Given the description of an element on the screen output the (x, y) to click on. 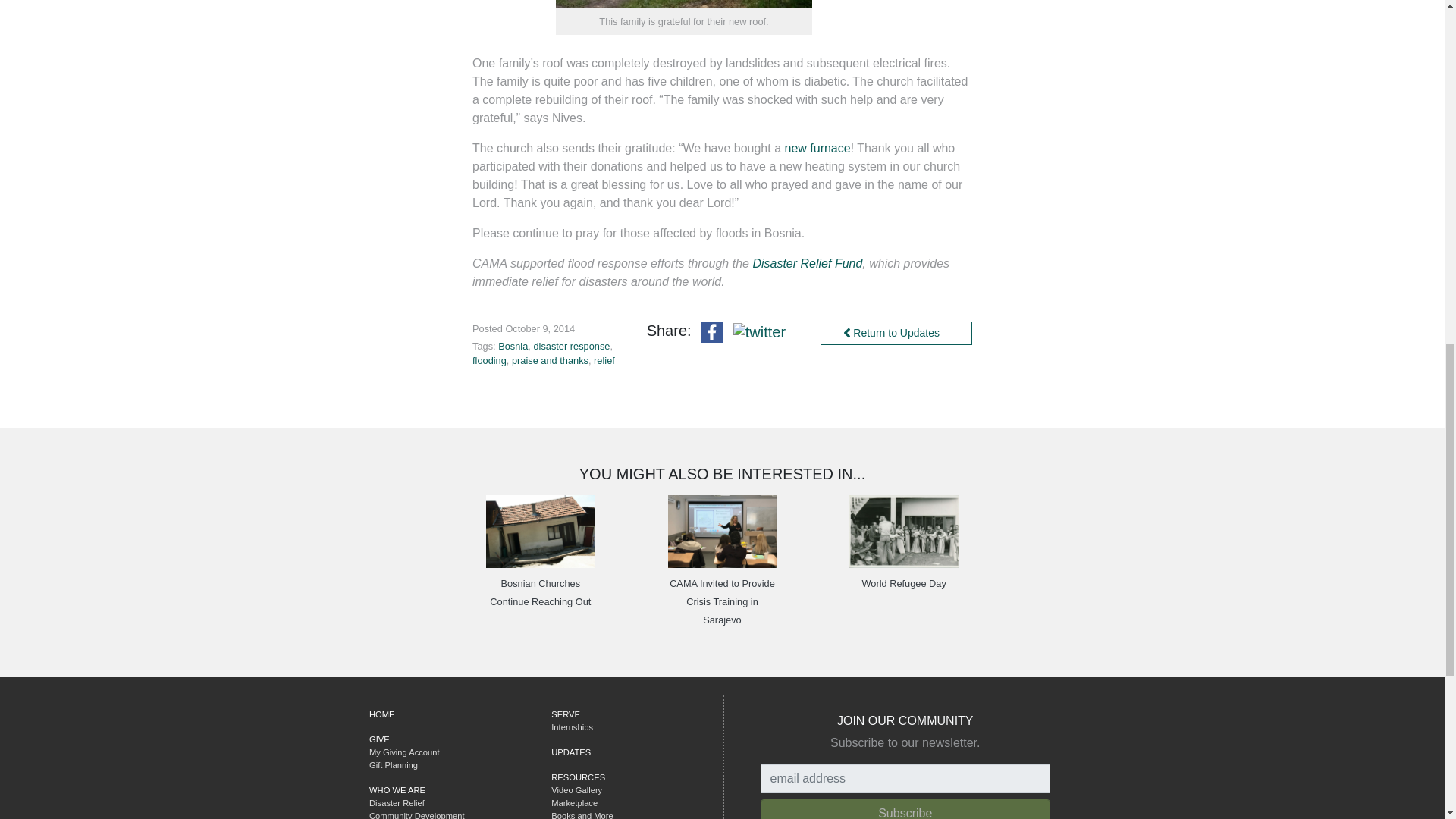
Disaster Relief Fund (806, 263)
Subscribe (904, 809)
Return to Updates (896, 332)
Bosnia (512, 346)
Bosnian Churches Continue Reaching Out (540, 592)
CAMA Disaster Relief Fund (806, 263)
praise and thanks (550, 360)
disaster response (571, 346)
relief (604, 360)
